Given the description of an element on the screen output the (x, y) to click on. 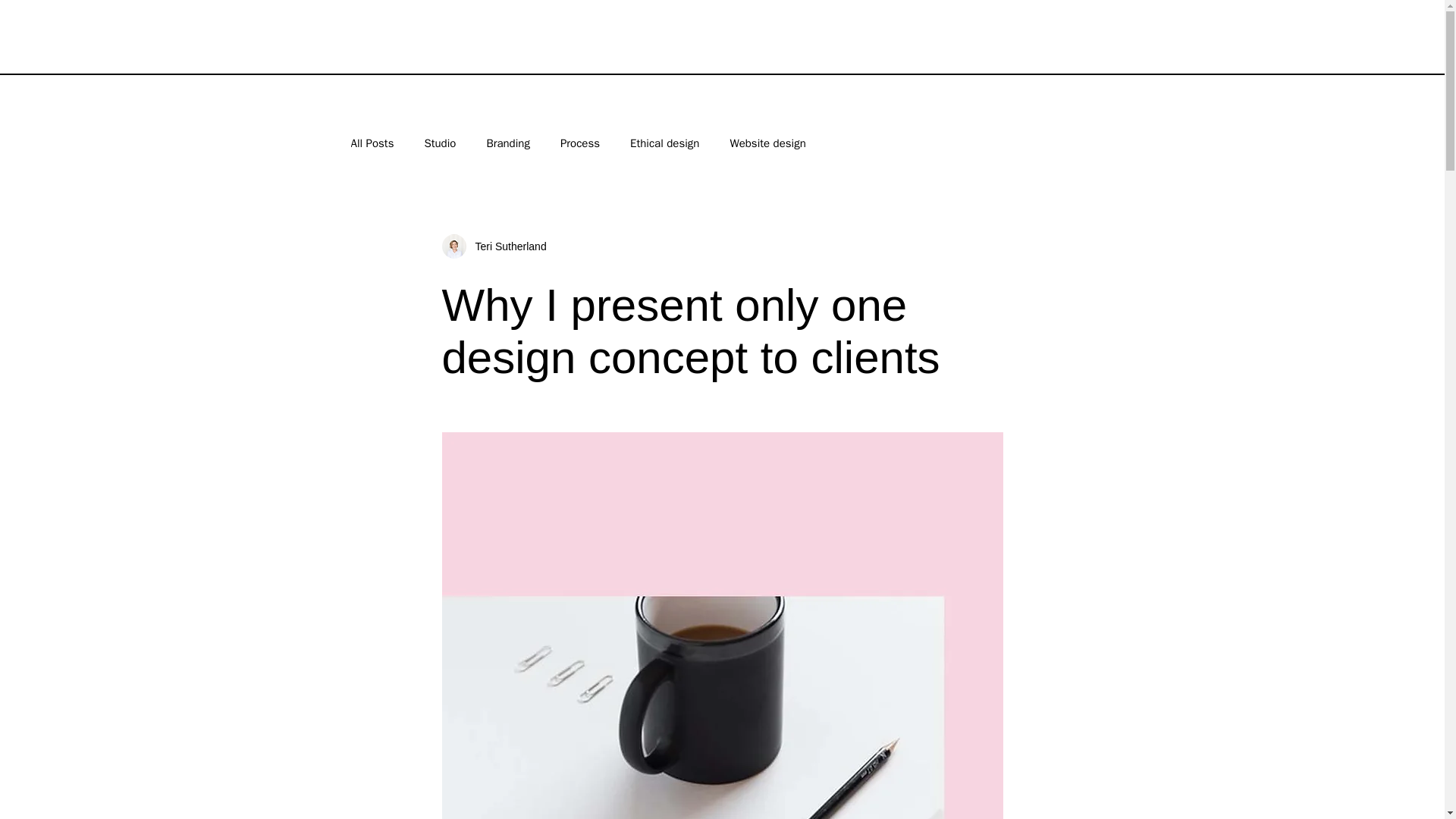
All Posts (371, 143)
Website design (767, 143)
Studio (439, 143)
Ethical design (664, 143)
Teri Sutherland (493, 246)
Teri Sutherland (505, 245)
Process (579, 143)
Branding (507, 143)
